Given the description of an element on the screen output the (x, y) to click on. 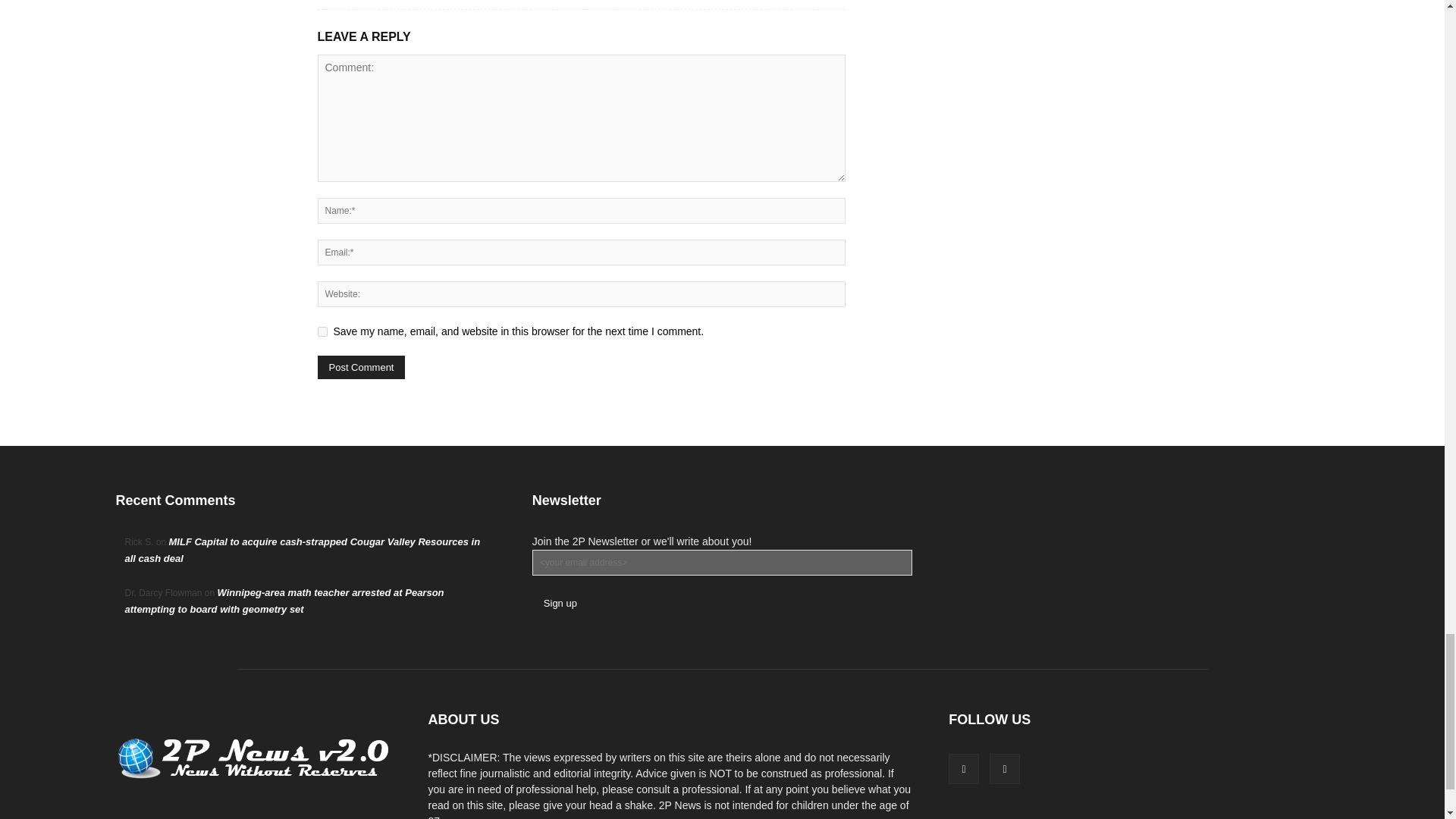
Post Comment (360, 367)
yes (321, 331)
Sign up (560, 603)
